Given the description of an element on the screen output the (x, y) to click on. 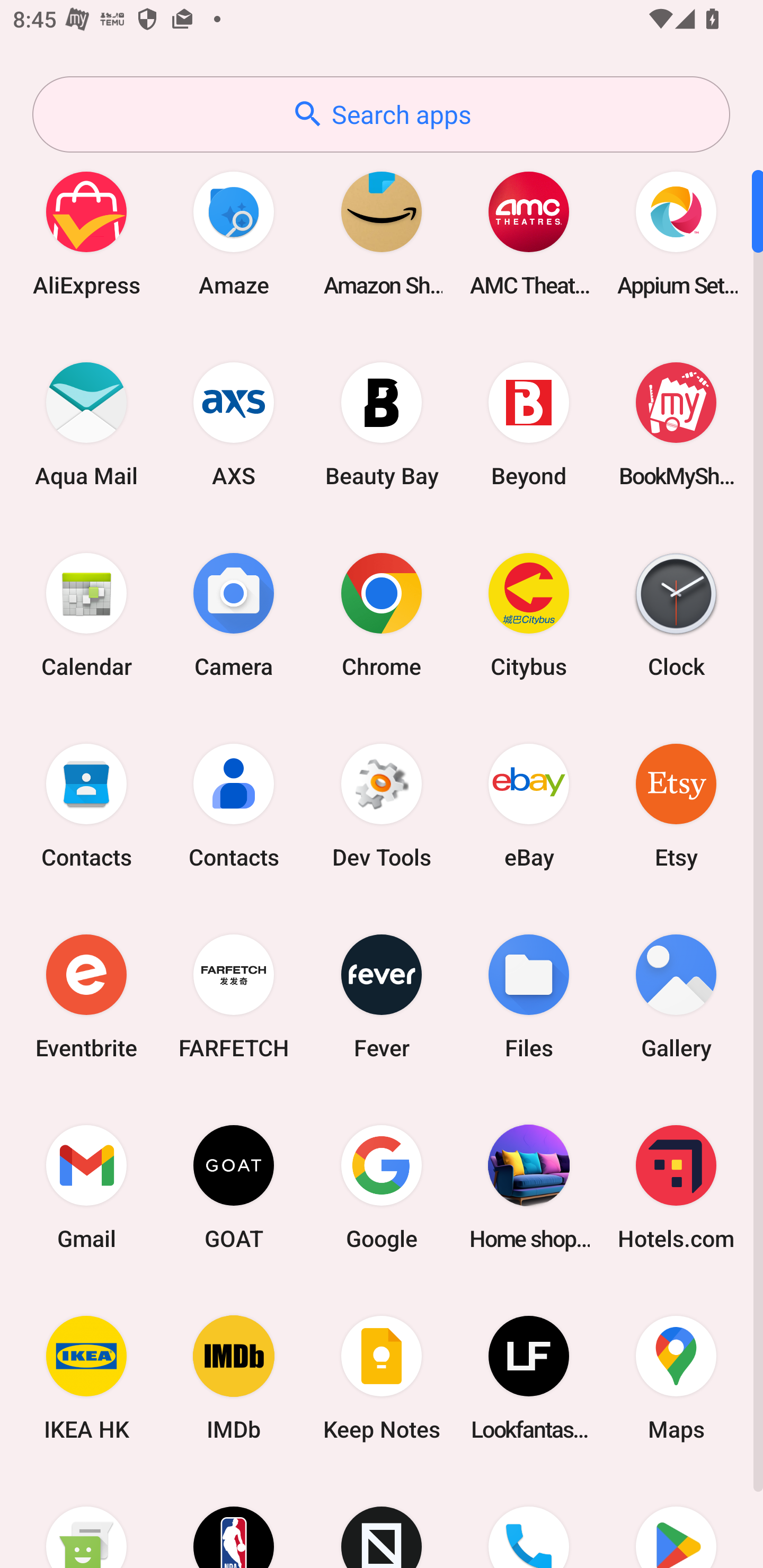
  Search apps (381, 114)
AliExpress (86, 233)
Amaze (233, 233)
Amazon Shopping (381, 233)
AMC Theatres (528, 233)
Appium Settings (676, 233)
Aqua Mail (86, 424)
AXS (233, 424)
Beauty Bay (381, 424)
Beyond (528, 424)
BookMyShow (676, 424)
Calendar (86, 614)
Camera (233, 614)
Chrome (381, 614)
Citybus (528, 614)
Clock (676, 614)
Contacts (86, 805)
Contacts (233, 805)
Dev Tools (381, 805)
eBay (528, 805)
Etsy (676, 805)
Eventbrite (86, 996)
FARFETCH (233, 996)
Fever (381, 996)
Files (528, 996)
Gallery (676, 996)
Gmail (86, 1186)
GOAT (233, 1186)
Google (381, 1186)
Home shopping (528, 1186)
Hotels.com (676, 1186)
IKEA HK (86, 1377)
IMDb (233, 1377)
Keep Notes (381, 1377)
Lookfantastic (528, 1377)
Maps (676, 1377)
Messaging (86, 1520)
NBA (233, 1520)
Novelship (381, 1520)
Phone (528, 1520)
Play Store (676, 1520)
